Given the description of an element on the screen output the (x, y) to click on. 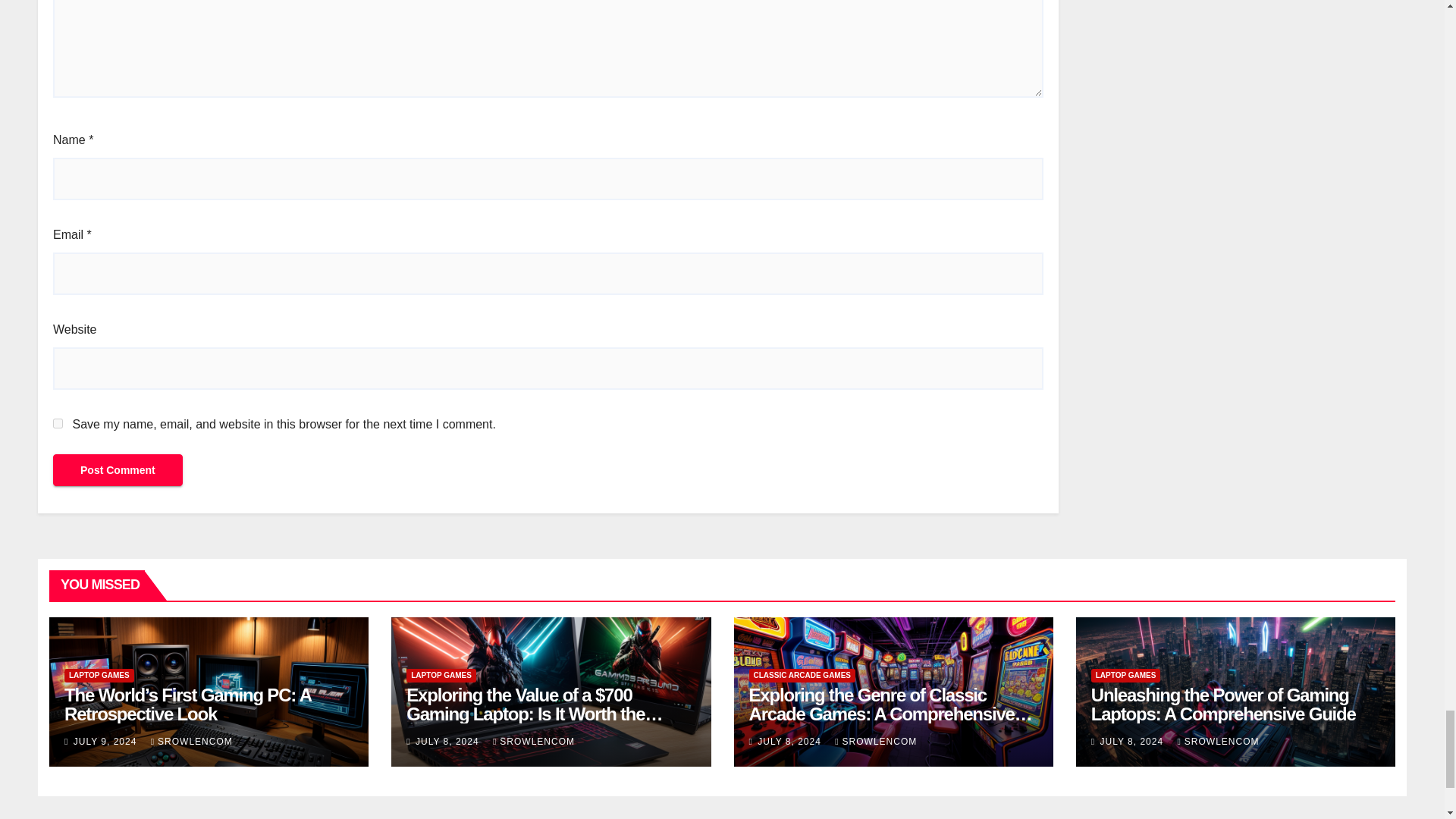
Post Comment (117, 470)
yes (57, 423)
